Given the description of an element on the screen output the (x, y) to click on. 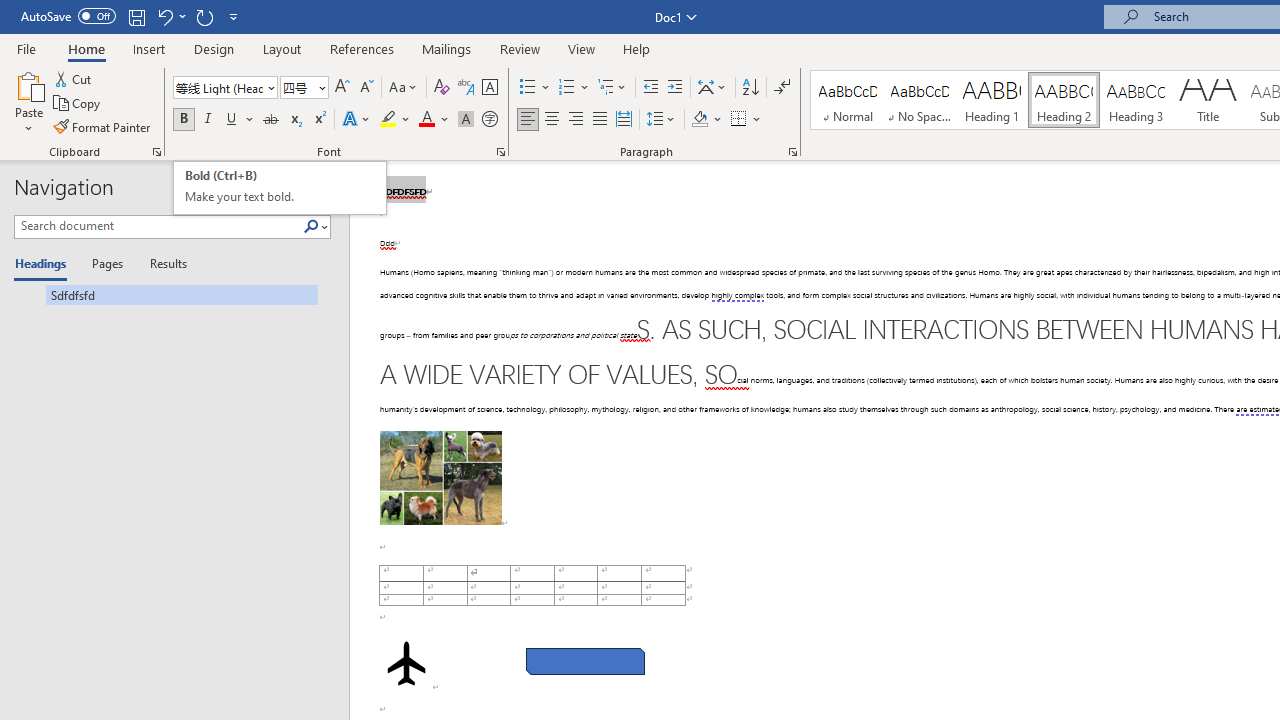
Change Case (404, 87)
Line and Paragraph Spacing (661, 119)
Center (552, 119)
Bullets (527, 87)
Numbering (566, 87)
References (362, 48)
Copy (78, 103)
Increase Indent (675, 87)
Superscript (319, 119)
Sdfdfsfd (166, 294)
Heading 2 (1063, 100)
Align Left (527, 119)
Clear Formatting (442, 87)
Review (520, 48)
